Given the description of an element on the screen output the (x, y) to click on. 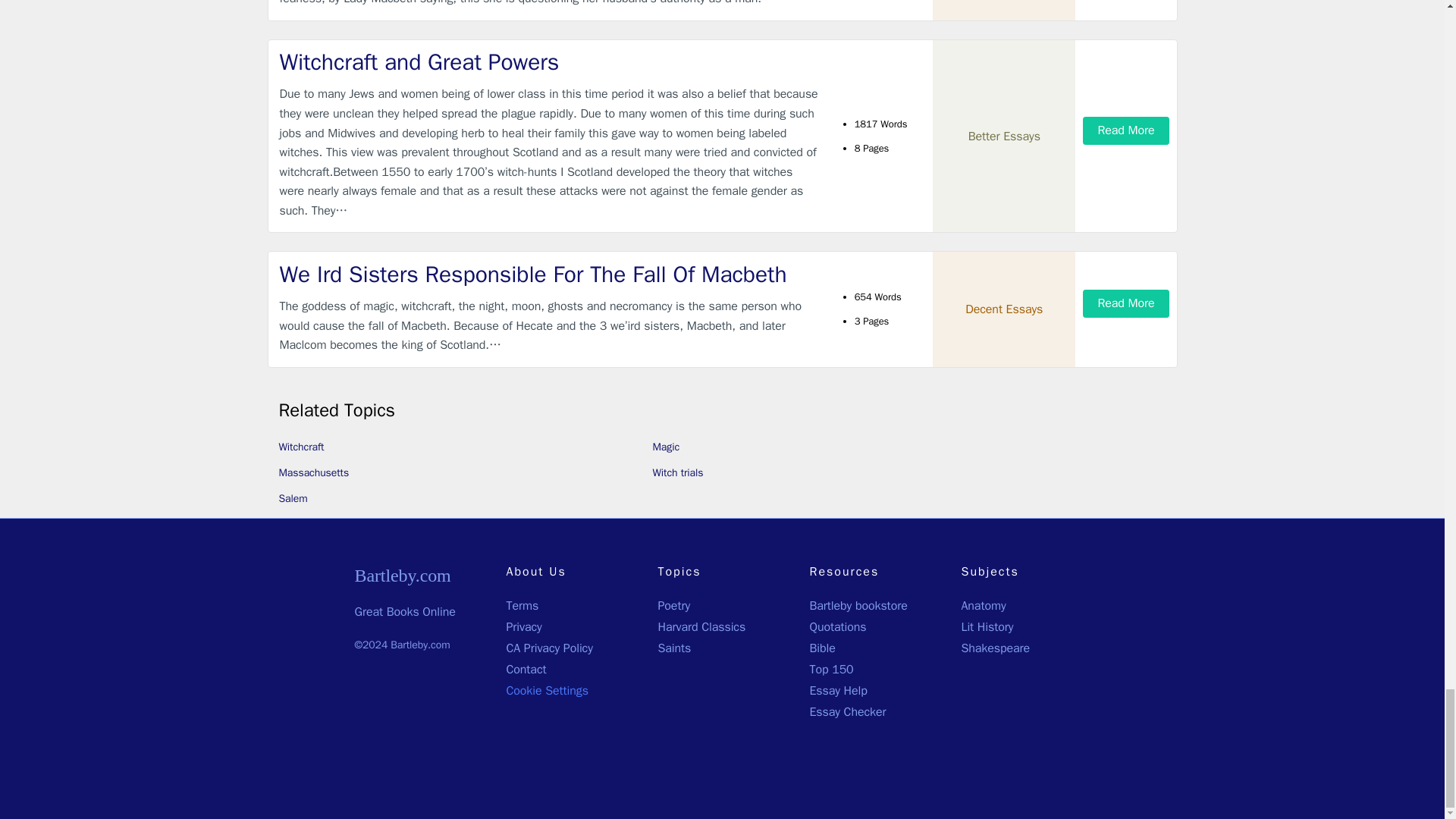
Witch trials (677, 472)
Witchcraft (301, 446)
Salem (293, 498)
Massachusetts (314, 472)
Magic (665, 446)
